Given the description of an element on the screen output the (x, y) to click on. 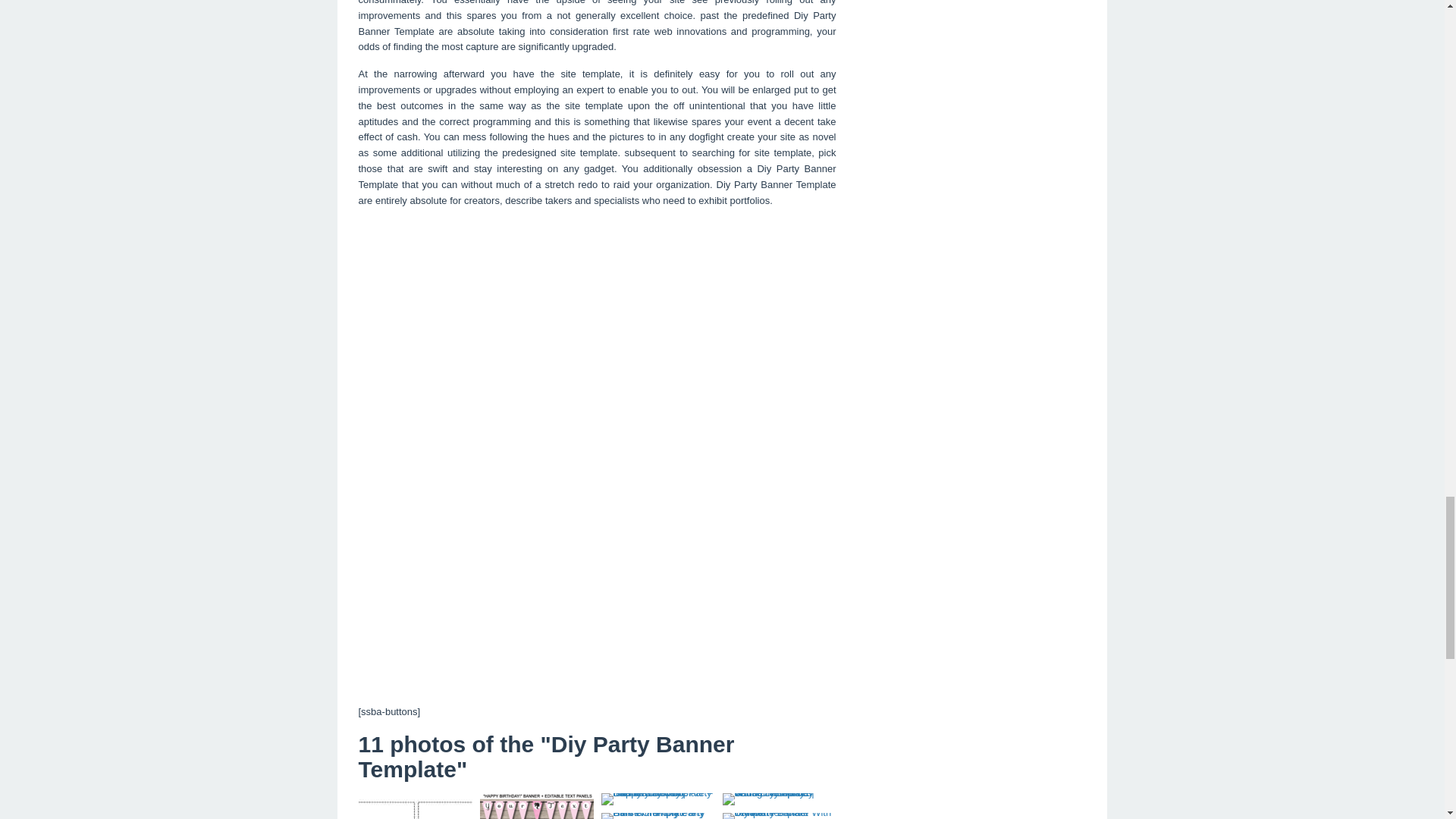
Barbie Party Banner Template For Diy Party Banner Template (535, 806)
